Given the description of an element on the screen output the (x, y) to click on. 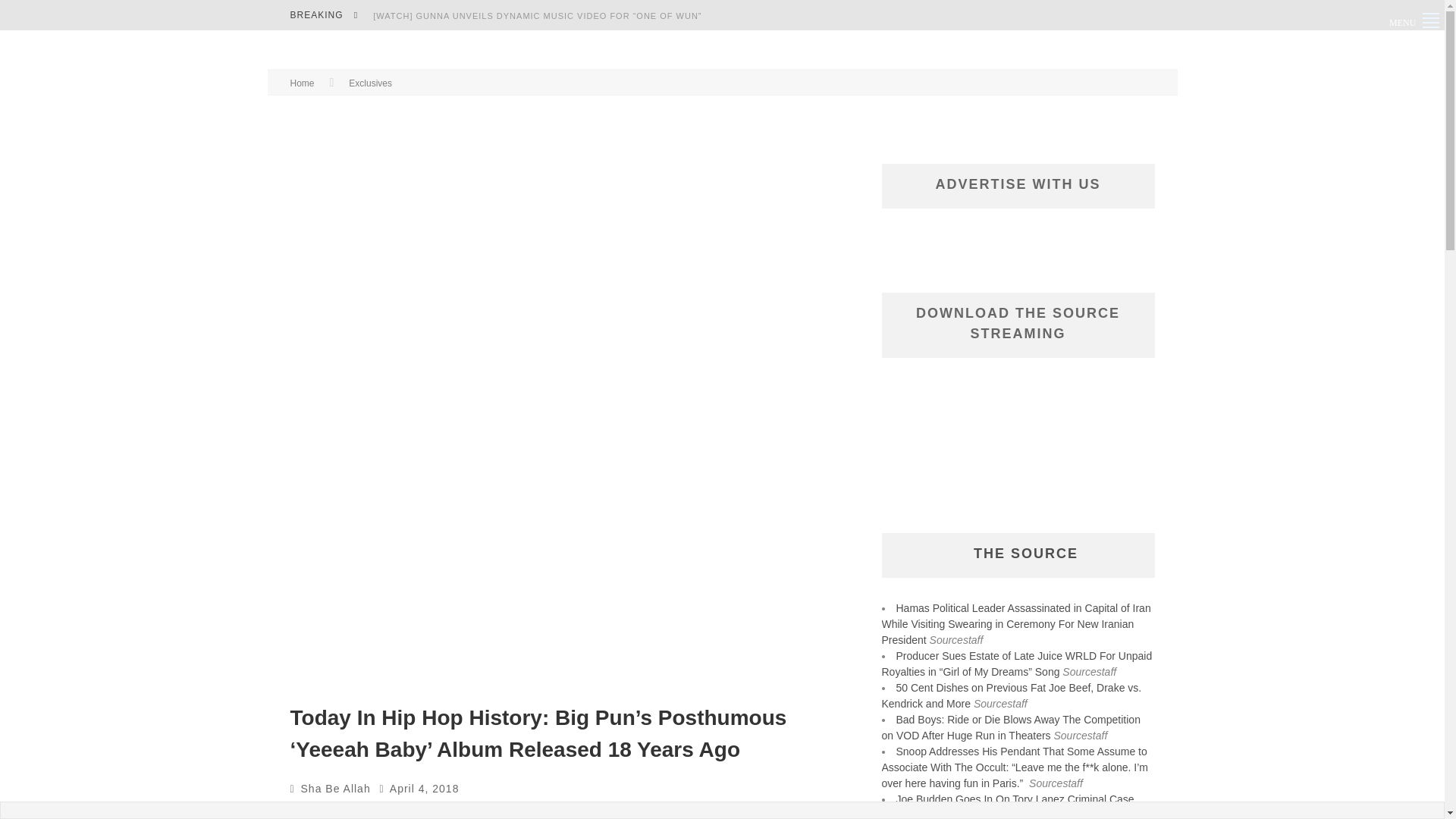
Exclusives (329, 811)
Home (301, 82)
News Exclusives (689, 811)
View all posts in feature (384, 811)
View all posts in Exclusives (329, 811)
View all posts in Exclusives (370, 82)
feature (384, 811)
Exclusives (370, 82)
View all posts in News Exclusives (689, 811)
